Given the description of an element on the screen output the (x, y) to click on. 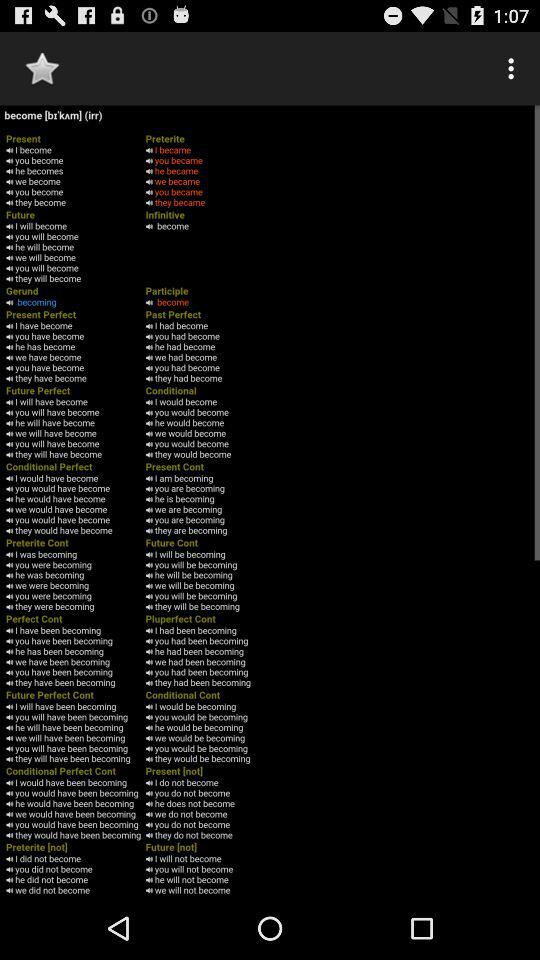
go to favrote option (42, 68)
